Given the description of an element on the screen output the (x, y) to click on. 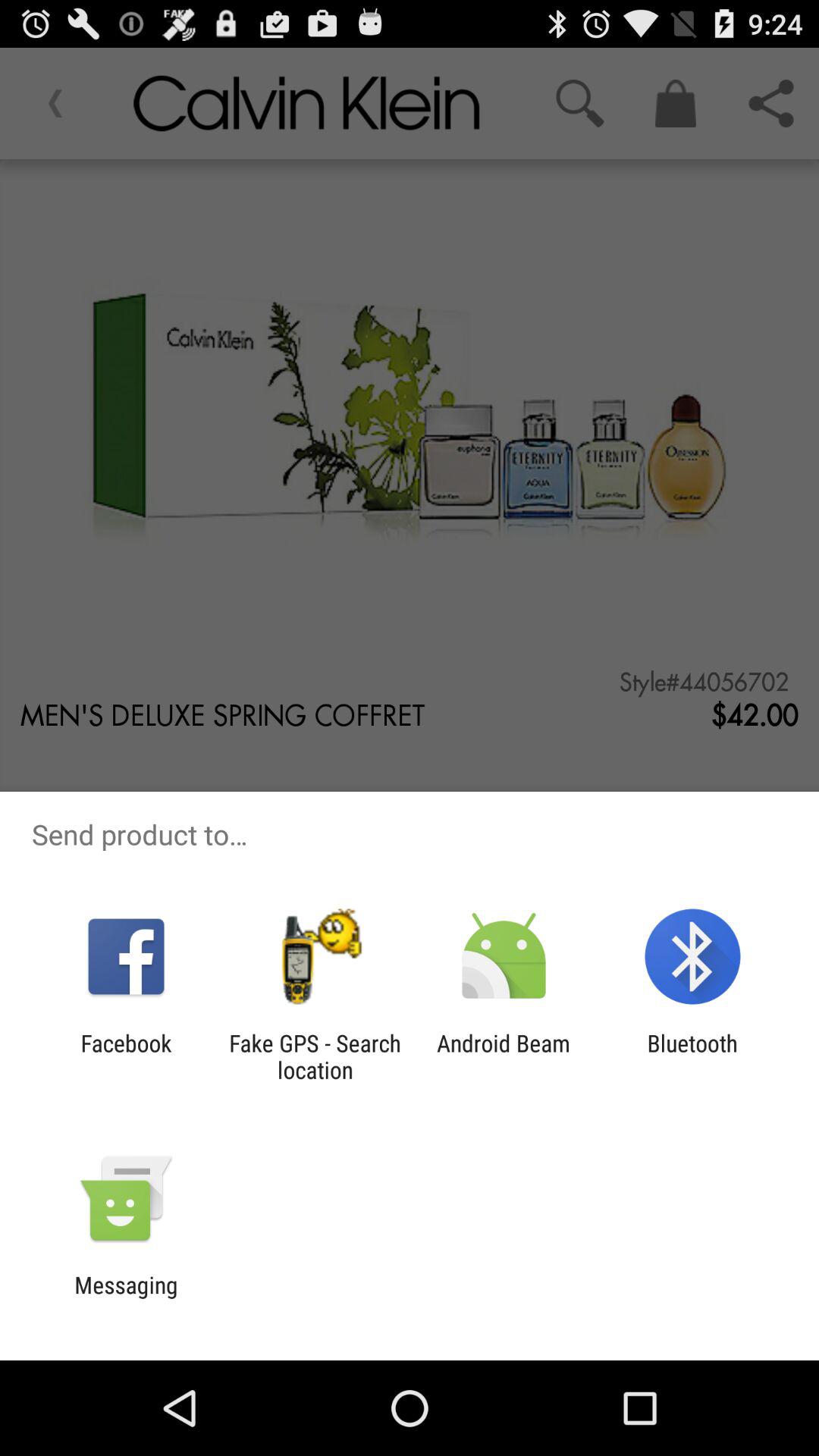
turn off app next to bluetooth item (503, 1056)
